Given the description of an element on the screen output the (x, y) to click on. 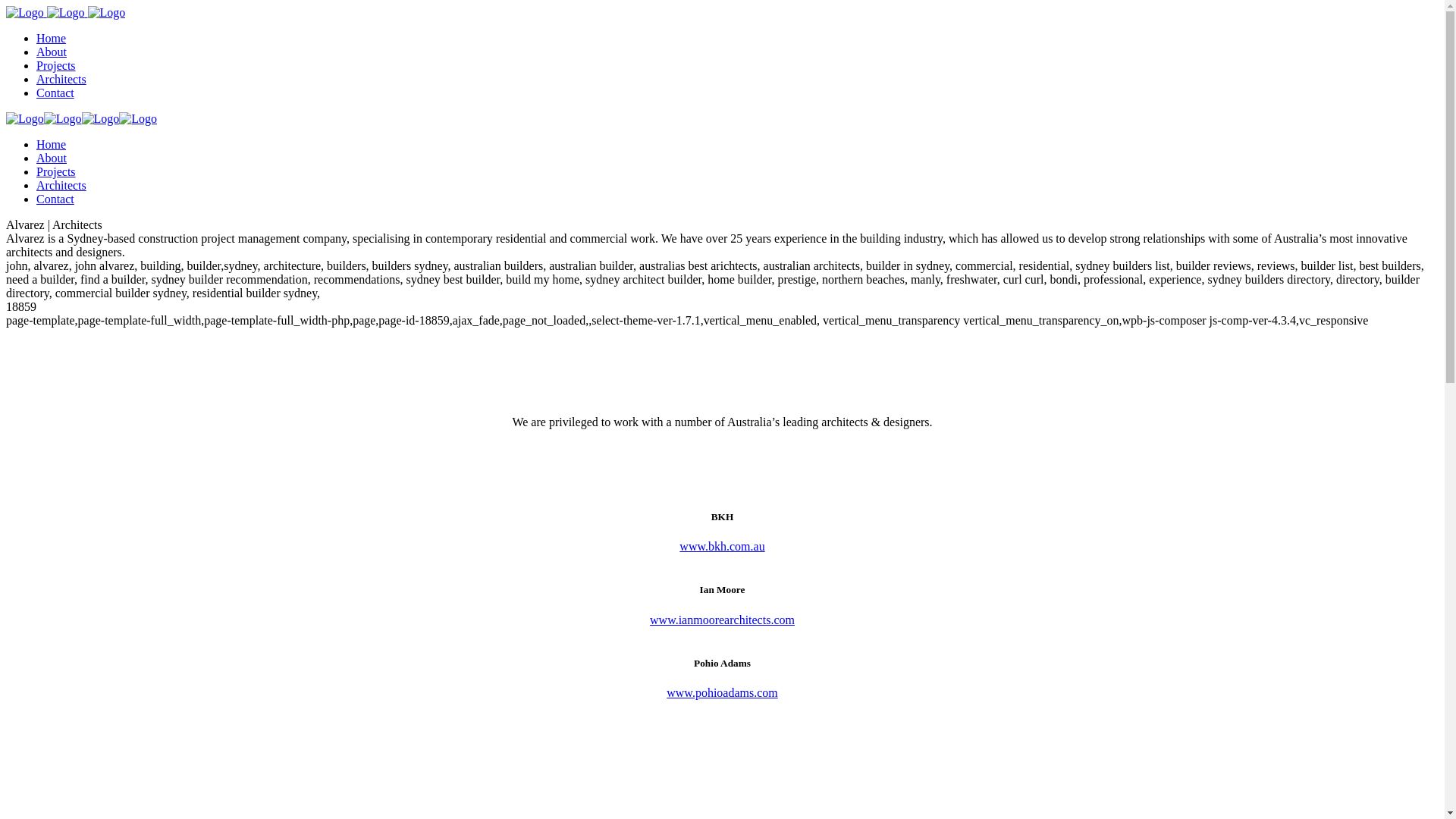
Contact Element type: text (55, 92)
Home Element type: text (50, 144)
About Element type: text (51, 51)
Projects Element type: text (55, 65)
www.pohioadams.com Element type: text (722, 692)
About Element type: text (51, 157)
Architects Element type: text (61, 184)
www.ianmoorearchitects.com Element type: text (721, 619)
Home Element type: text (50, 37)
Contact Element type: text (55, 198)
Architects Element type: text (61, 78)
www.bkh.com.au Element type: text (721, 545)
Projects Element type: text (55, 171)
